Given the description of an element on the screen output the (x, y) to click on. 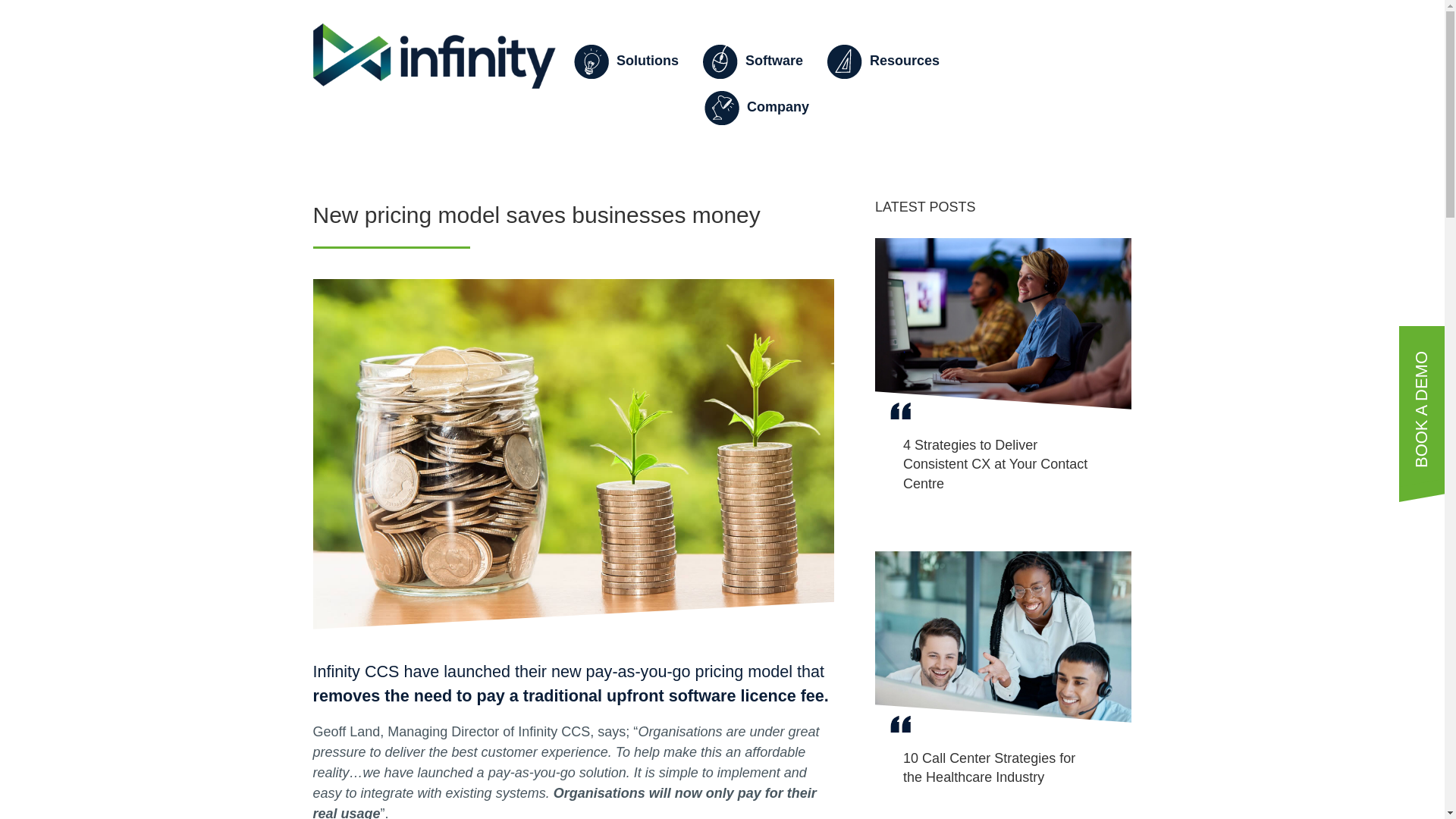
Solutions (629, 61)
Infinity company details (760, 107)
